Given the description of an element on the screen output the (x, y) to click on. 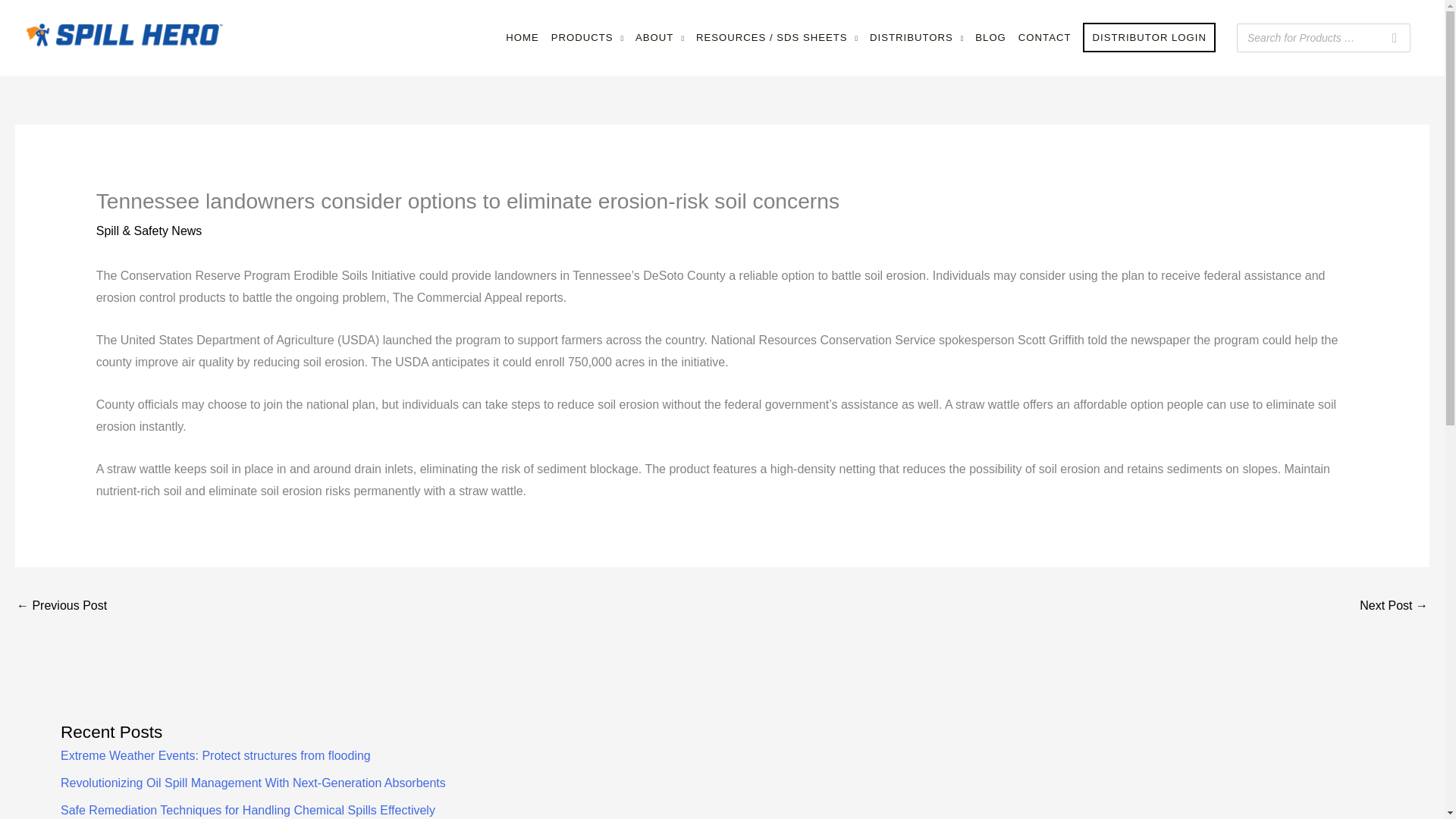
HOME (521, 37)
DISTRIBUTOR LOGIN (1149, 37)
PRODUCTS (586, 37)
Extreme Weather Events: Protect structures from flooding (216, 755)
CONTACT (1044, 37)
ABOUT (659, 37)
BLOG (990, 37)
DISTRIBUTORS (916, 37)
Wind storm delays oil spill cleanup in New Jersey (61, 606)
